Given the description of an element on the screen output the (x, y) to click on. 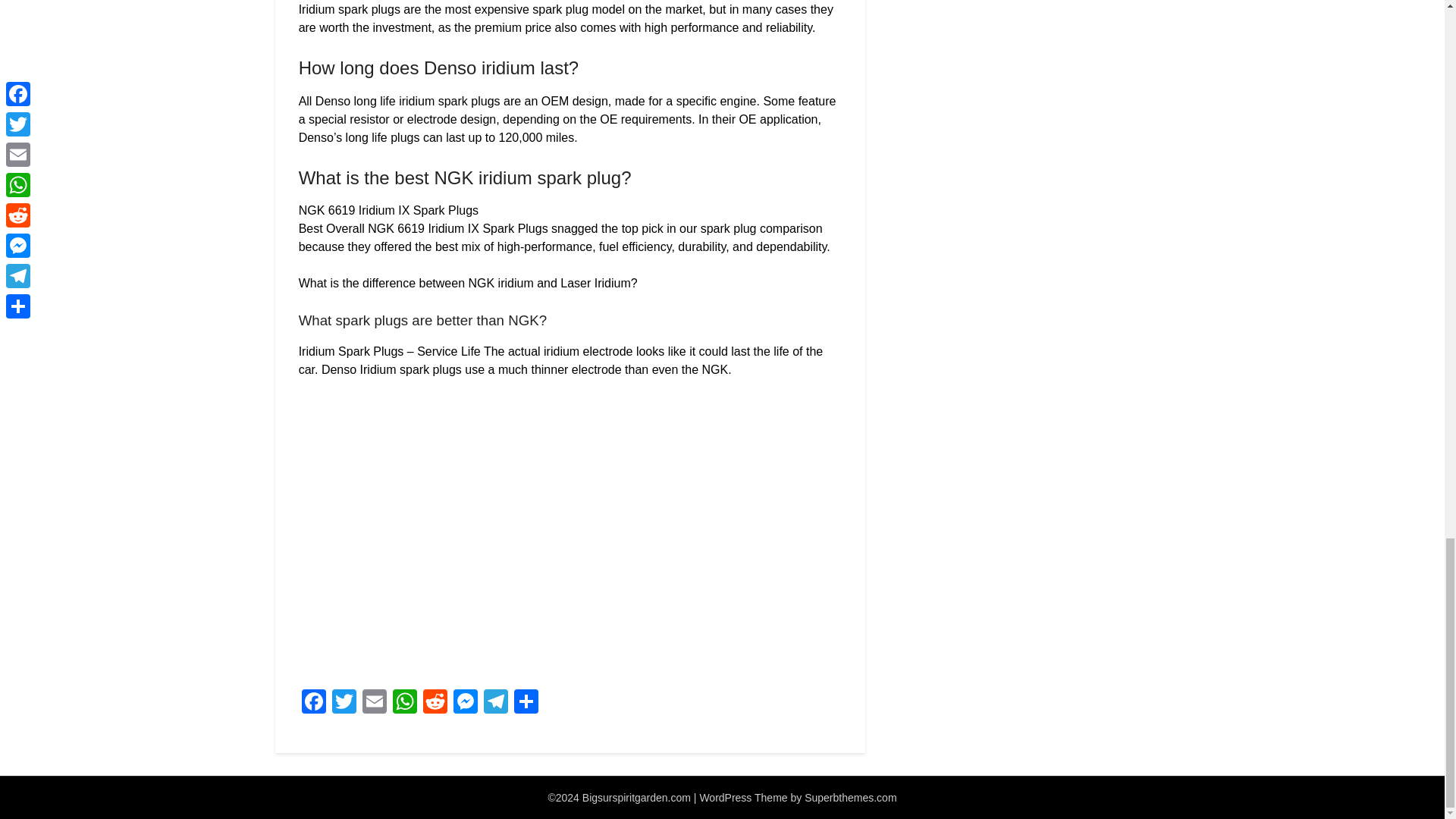
Email (374, 703)
Messenger (464, 703)
Facebook (313, 703)
WhatsApp (405, 703)
Reddit (434, 703)
WhatsApp (405, 703)
Reddit (434, 703)
Telegram (495, 703)
Telegram (495, 703)
Facebook (313, 703)
Messenger (464, 703)
Twitter (344, 703)
Twitter (344, 703)
Email (374, 703)
